Given the description of an element on the screen output the (x, y) to click on. 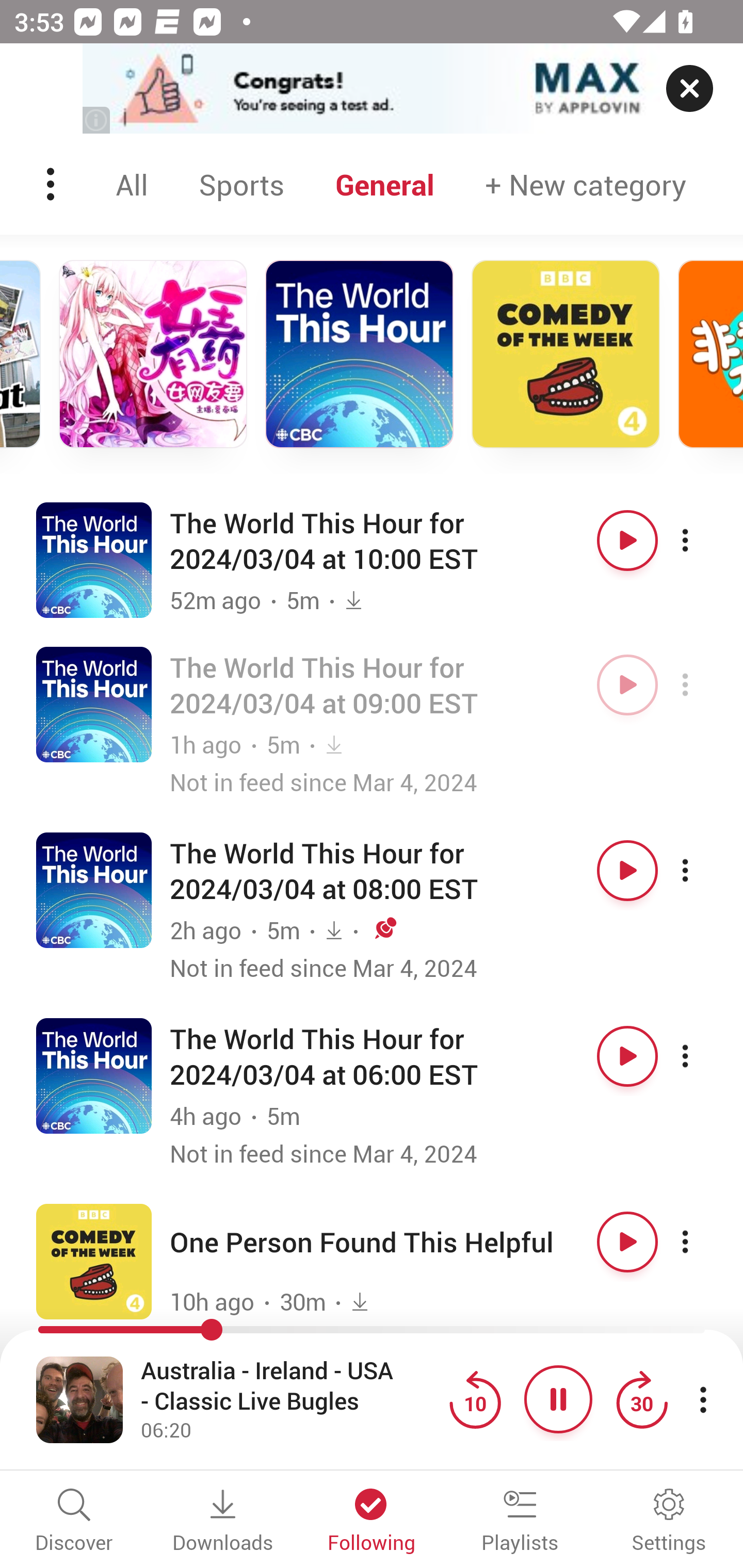
app-monetization (371, 88)
(i) (96, 119)
Menu (52, 184)
All (131, 184)
Sports (241, 184)
General (384, 184)
New category + New category (585, 184)
女王有药丨爆笑脱口秀 (152, 354)
The World This Hour (359, 354)
Comedy of the Week (565, 354)
Play button (627, 540)
More options (703, 540)
Open series The World This Hour (93, 559)
Play button (627, 685)
More options (703, 685)
Open series The World This Hour (93, 704)
Play button (627, 871)
More options (703, 871)
Open series The World This Hour (93, 890)
Play button (627, 1056)
More options (703, 1056)
Open series The World This Hour (93, 1075)
Play button (627, 1241)
More options (703, 1241)
Open series Comedy of the Week (93, 1261)
Open fullscreen player (79, 1399)
More player controls (703, 1399)
Australia - Ireland - USA - Classic Live Bugles (290, 1385)
Pause button (558, 1398)
Jump back (475, 1399)
Jump forward (641, 1399)
Discover (74, 1521)
Downloads (222, 1521)
Following (371, 1521)
Playlists (519, 1521)
Settings (668, 1521)
